Given the description of an element on the screen output the (x, y) to click on. 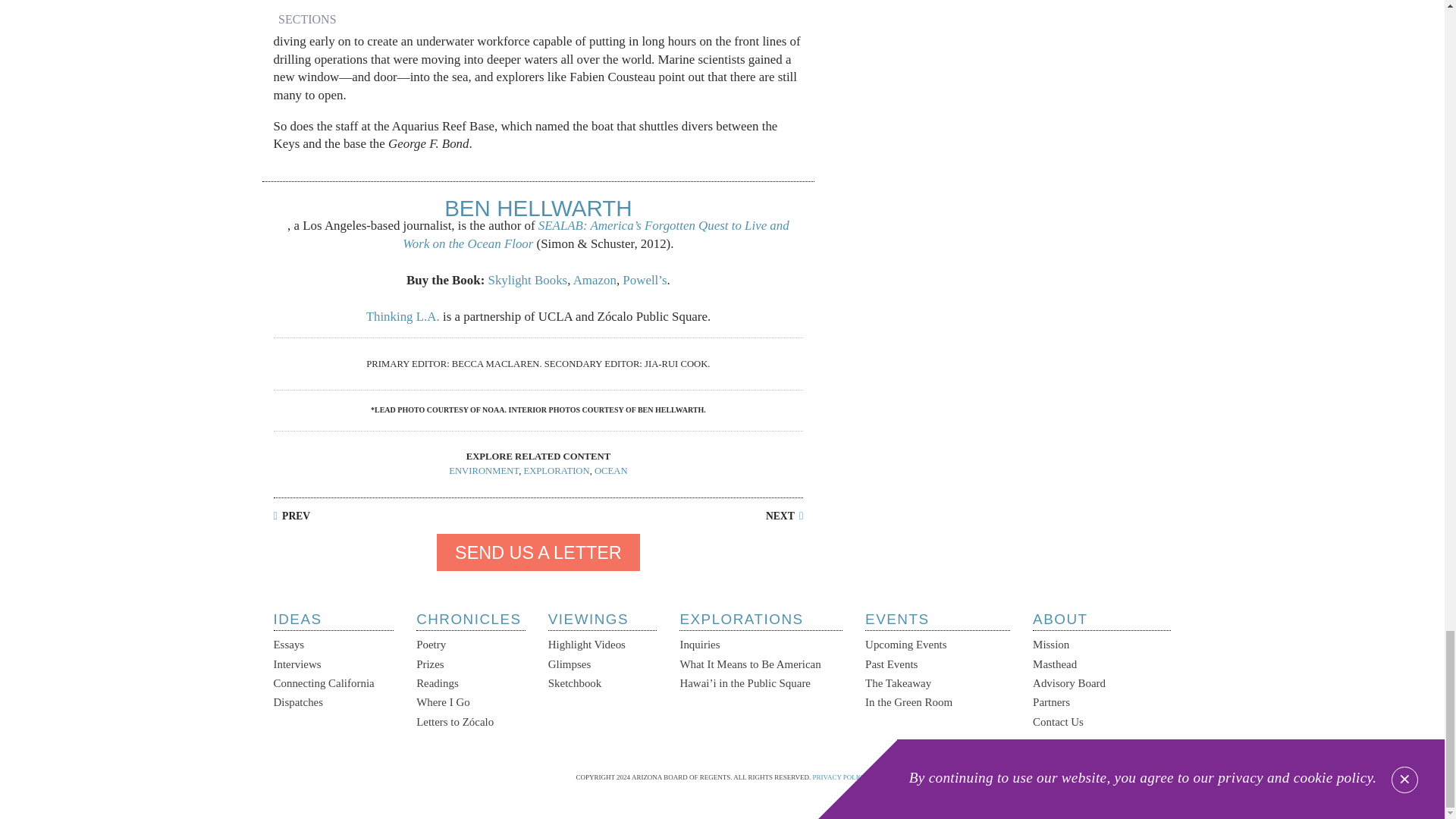
About (1101, 621)
